Given the description of an element on the screen output the (x, y) to click on. 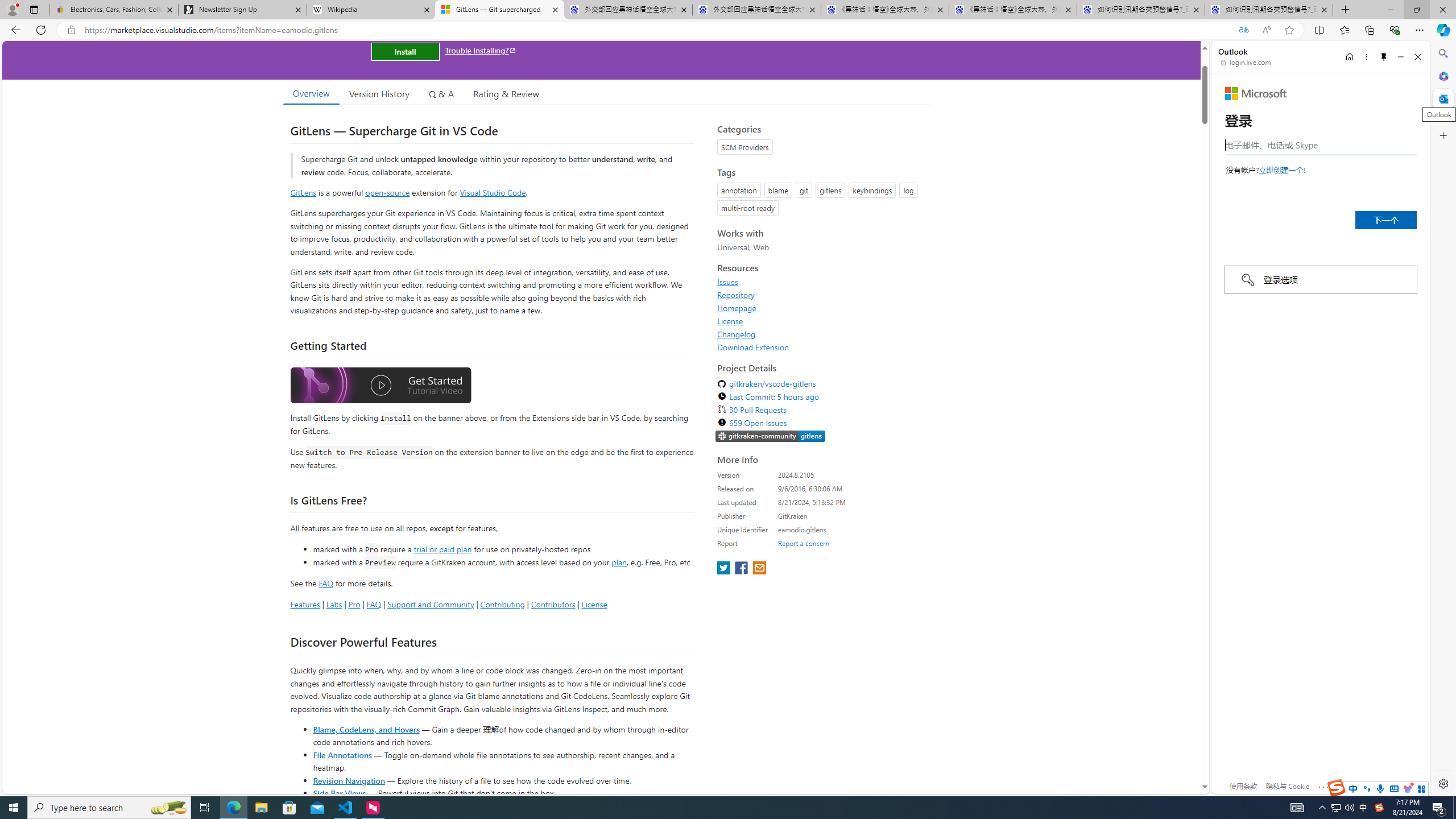
Side Bar Views (339, 792)
Features (304, 603)
login.live.com (1246, 61)
Contributing (502, 603)
Report a concern (803, 542)
